Given the description of an element on the screen output the (x, y) to click on. 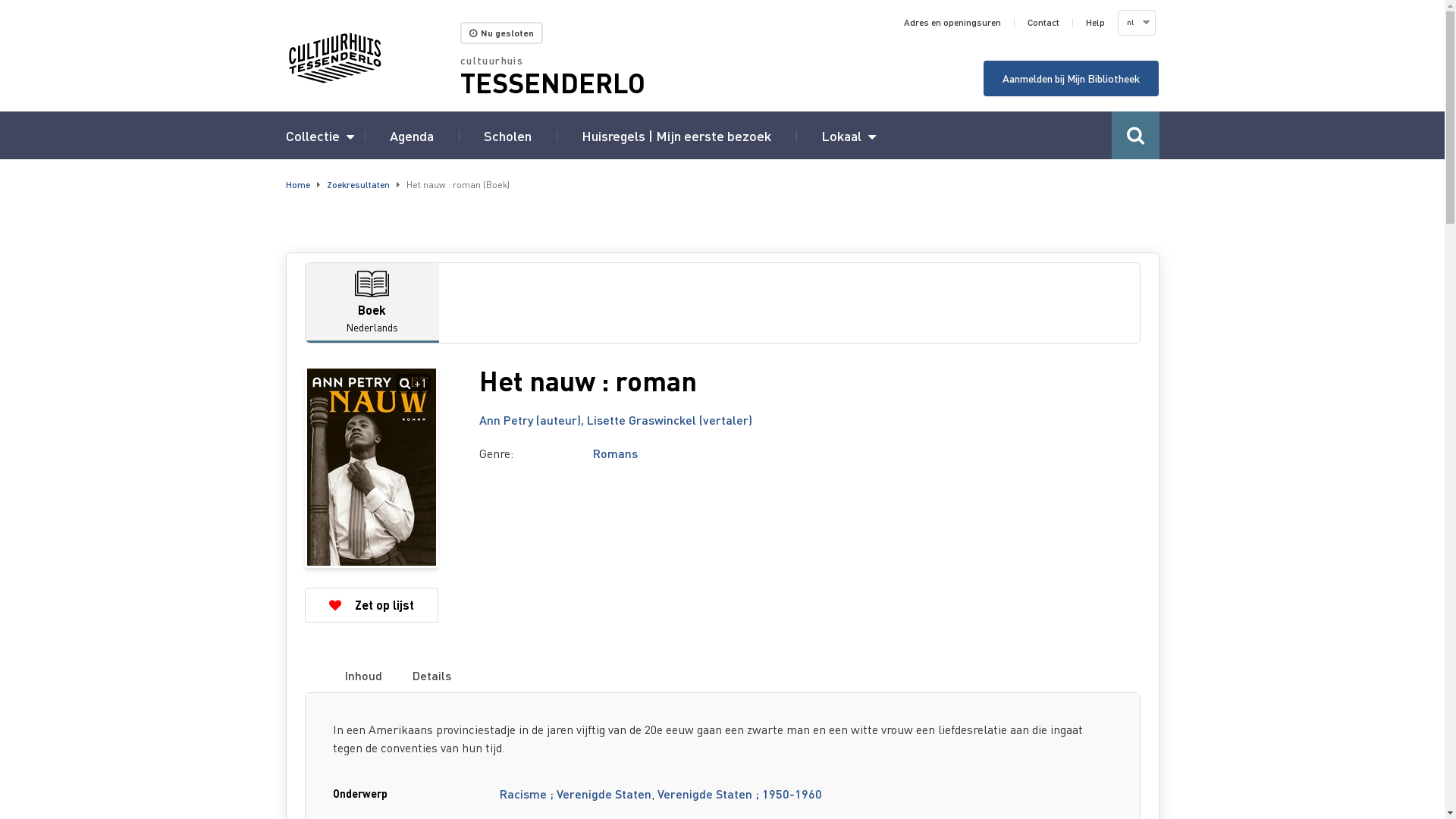
Aanmelden bij Mijn Bibliotheek Element type: text (1070, 78)
Contact Element type: text (1042, 22)
Lisette Graswinckel (vertaler) Element type: text (669, 419)
Details Element type: text (430, 675)
Zoekresultaten Element type: text (357, 184)
Scholen Element type: text (507, 135)
Home Element type: text (297, 184)
Nu gesloten Element type: text (501, 32)
Inhoud Element type: text (363, 675)
Toggle search Element type: hover (1135, 135)
Overslaan en naar zoeken gaan Element type: text (0, 0)
Huisregels | Mijn eerste bezoek Element type: text (675, 135)
Help Element type: text (1094, 22)
Ann Petry (auteur), Element type: text (532, 419)
Adres en openingsuren Element type: text (952, 22)
Romans Element type: text (615, 453)
Racisme ; Verenigde Staten Element type: text (575, 793)
Zet op lijst Element type: text (371, 604)
nl Element type: text (1134, 22)
Verenigde Staten ; 1950-1960 Element type: text (739, 793)
Home Element type: hover (372, 57)
Agenda Element type: text (411, 135)
